Given the description of an element on the screen output the (x, y) to click on. 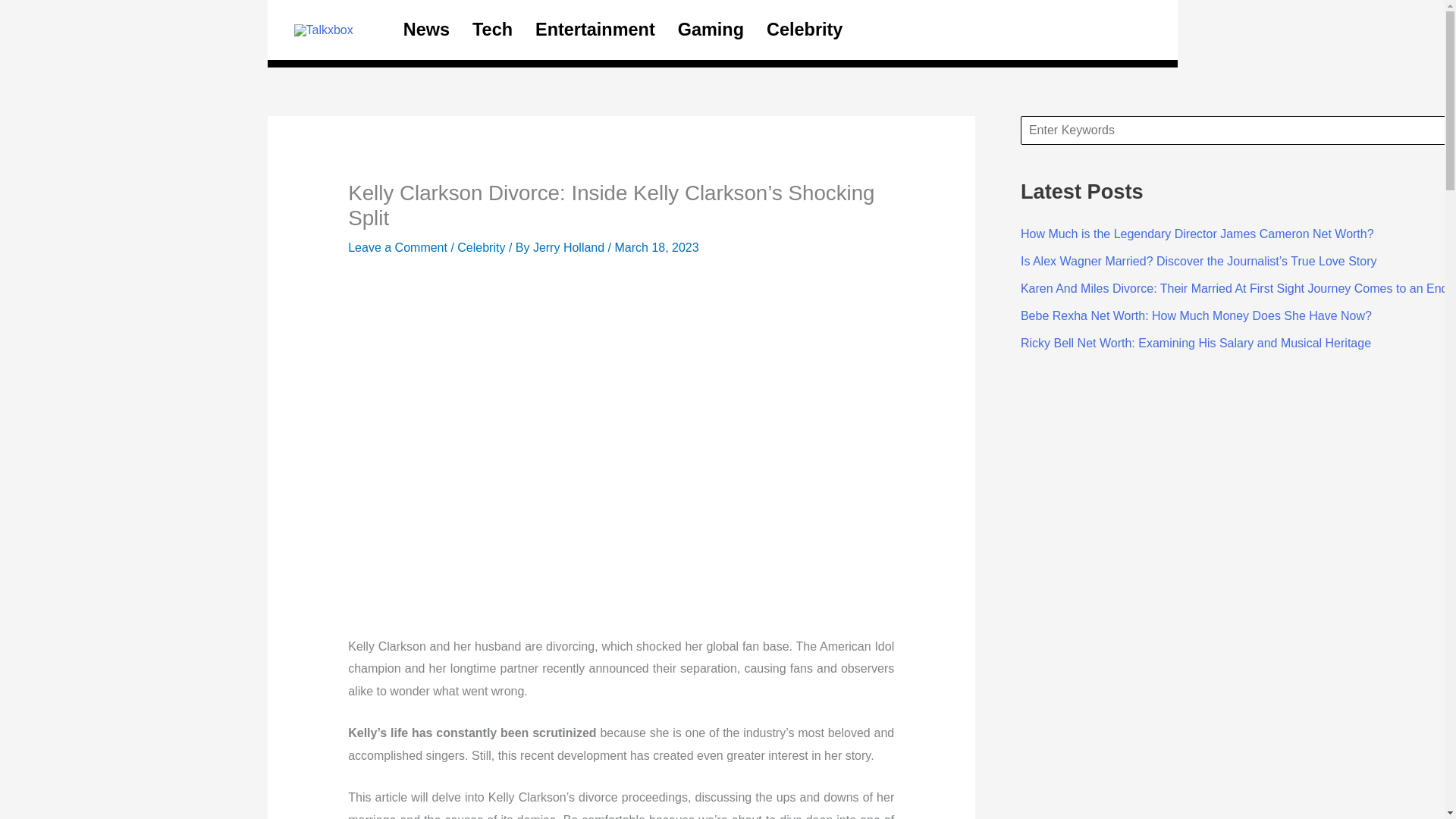
Entertainment (595, 29)
Tech (492, 29)
View all posts by Jerry Holland (570, 246)
Gaming (710, 29)
News (426, 29)
Celebrity (804, 29)
